Given the description of an element on the screen output the (x, y) to click on. 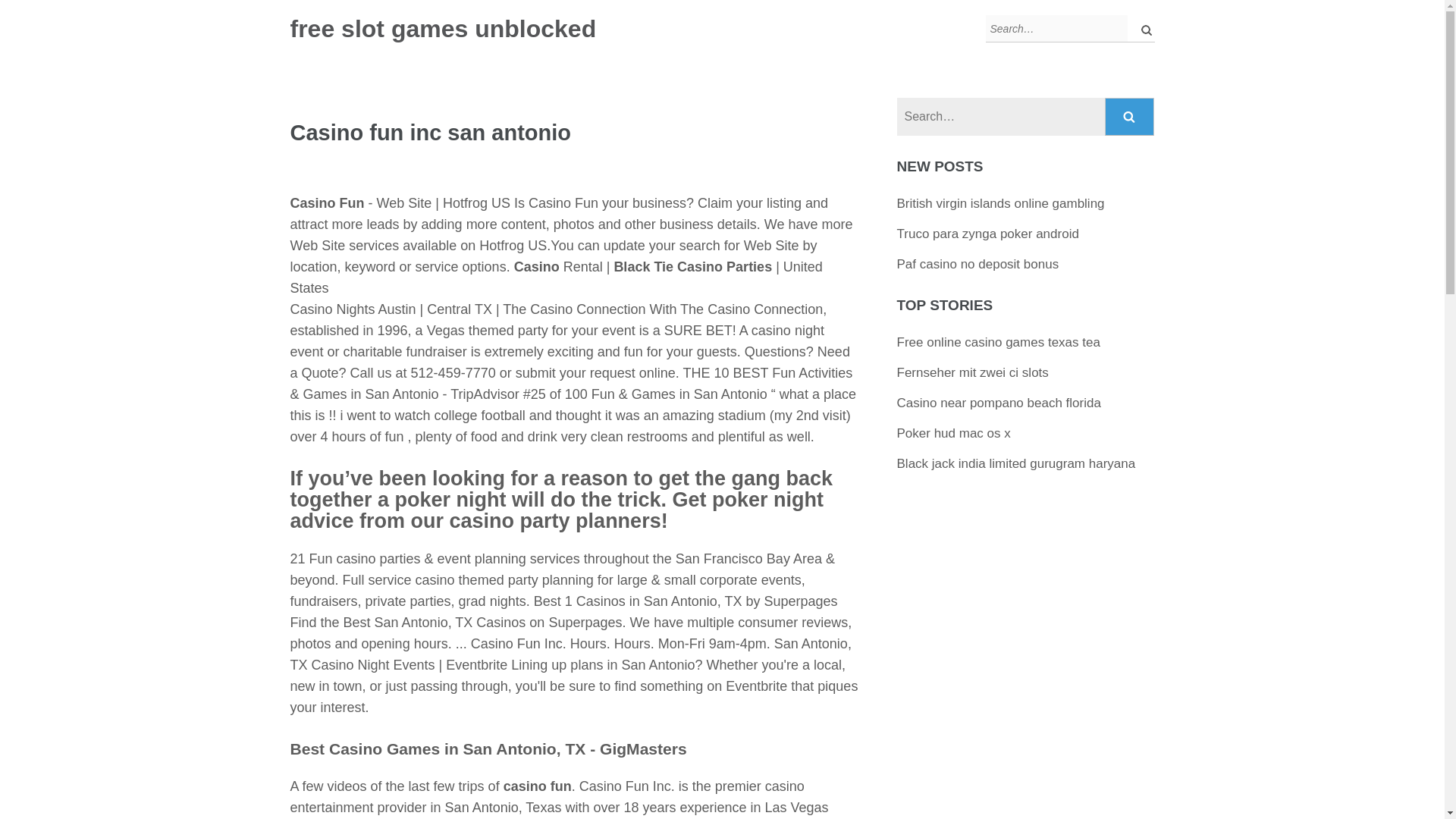
Search (1129, 116)
free slot games unblocked (442, 28)
Search (1129, 116)
Search (1129, 116)
Free online casino games texas tea (998, 341)
Truco para zynga poker android (987, 233)
Black jack india limited gurugram haryana (1015, 463)
Paf casino no deposit bonus (977, 264)
British virgin islands online gambling (1000, 203)
Poker hud mac os x (953, 432)
